Given the description of an element on the screen output the (x, y) to click on. 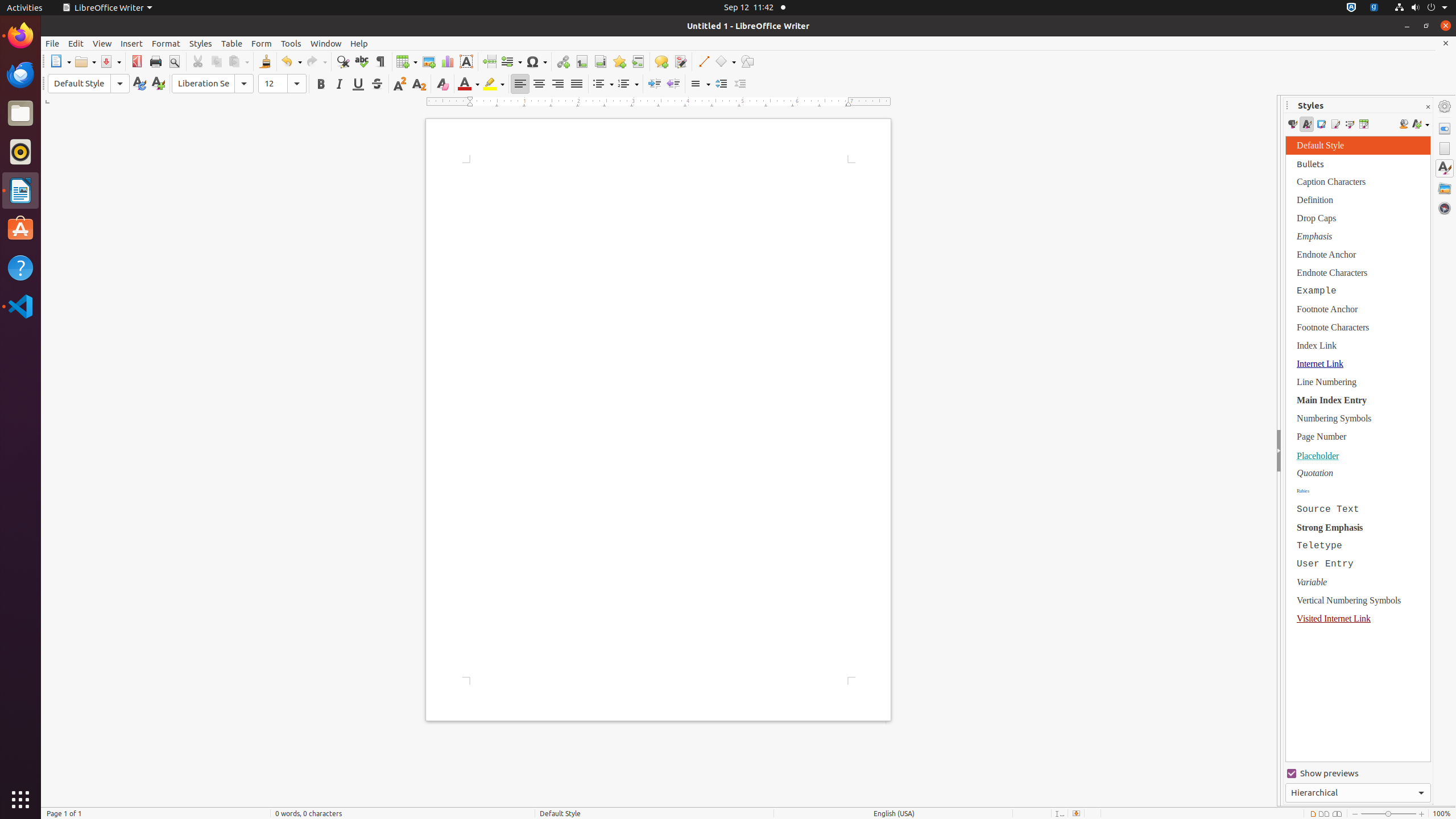
Style List Element type: tree (1357, 448)
Gallery Element type: radio-button (1444, 188)
Formatting Marks Element type: toggle-button (379, 61)
Show previews Element type: check-box (1357, 773)
Paragraph Styles Element type: push-button (1292, 123)
